Given the description of an element on the screen output the (x, y) to click on. 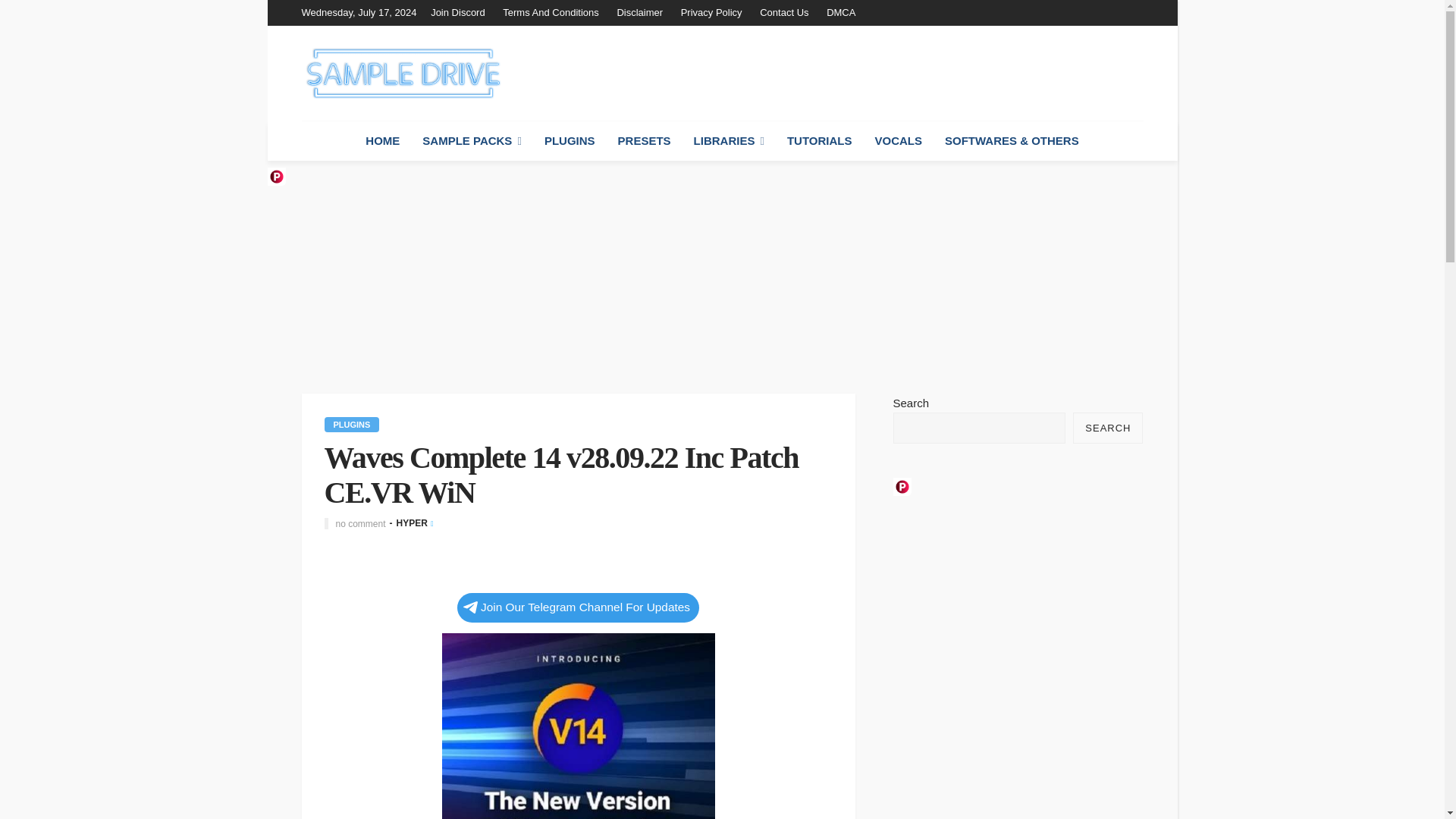
PLUGINS (569, 140)
Plugins (352, 424)
TUTORIALS (819, 140)
Terms And Conditions (550, 12)
HYPER (412, 522)
Disclaimer (638, 12)
PLUGINS (352, 424)
LIBRARIES (729, 140)
Join Discord (461, 12)
SAMPLE PACKS (471, 140)
